Given the description of an element on the screen output the (x, y) to click on. 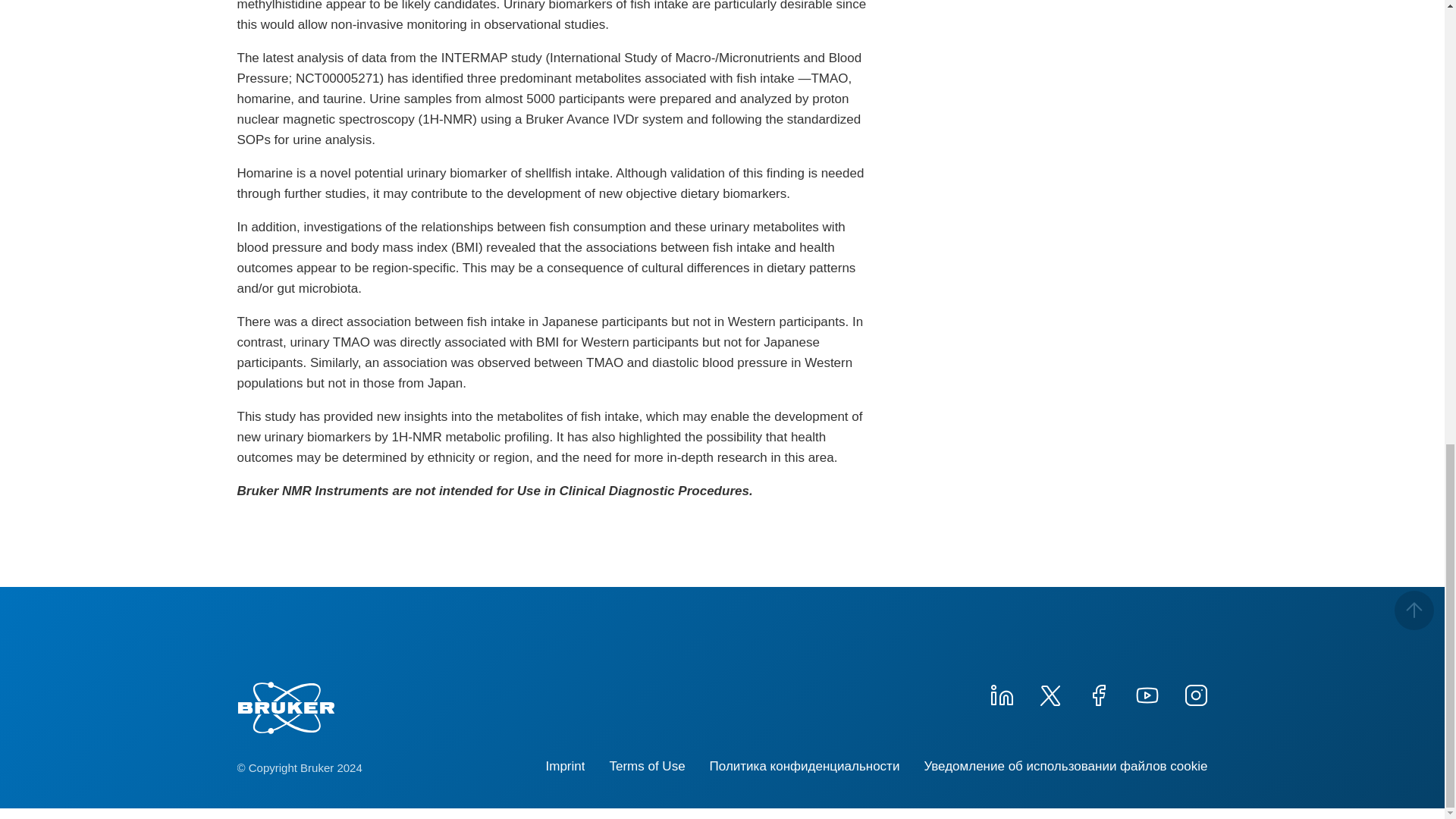
instagram (1194, 693)
youtube (1146, 693)
twitter (1048, 693)
Terms of Use (646, 766)
facebook (1097, 693)
linkedin (1000, 693)
Imprint (565, 766)
